Given the description of an element on the screen output the (x, y) to click on. 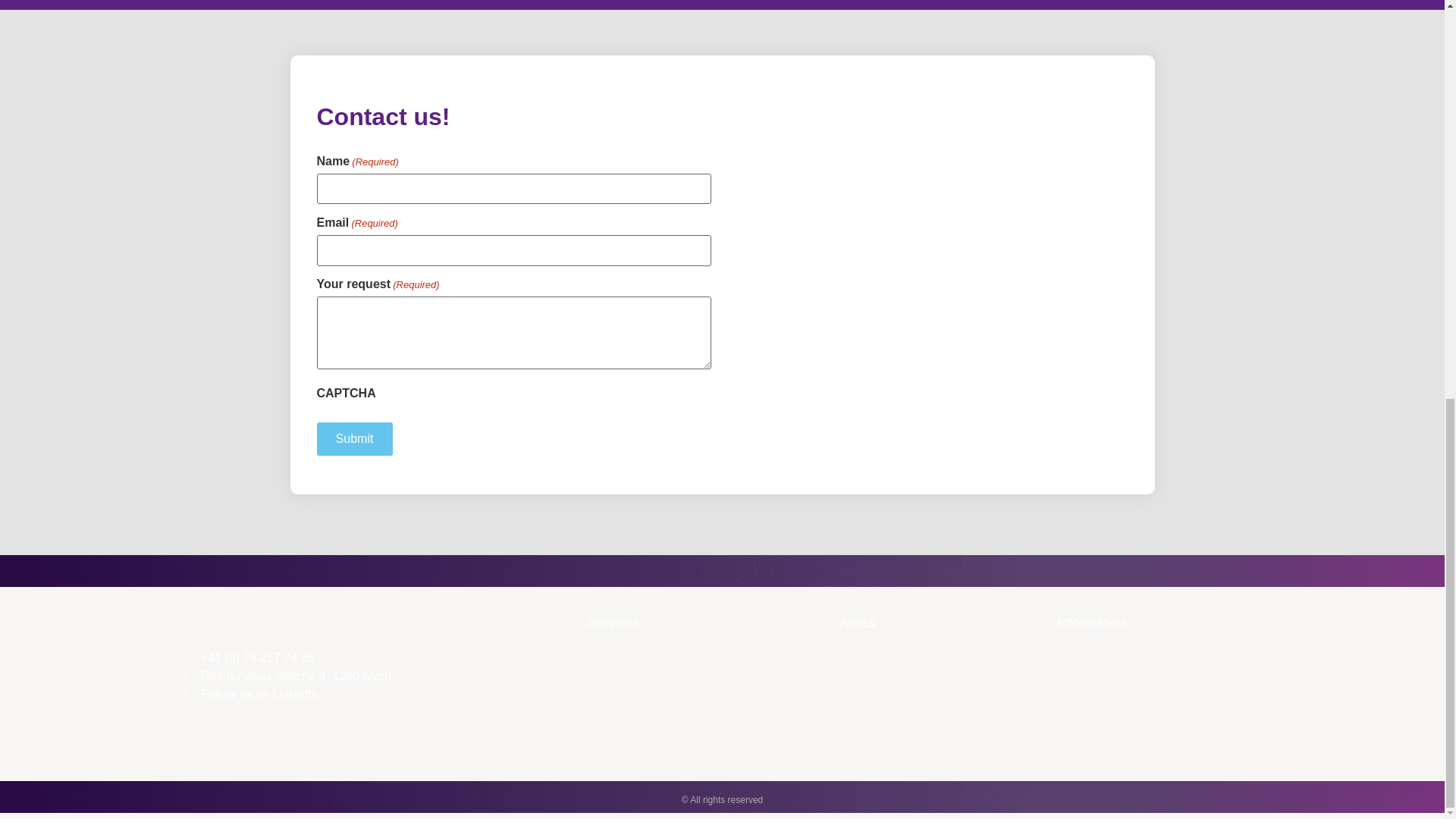
Industry (940, 652)
Submit (355, 438)
Follow us on LinkedIn (347, 694)
Services (940, 691)
Information Systems Audit (705, 652)
Retail (940, 672)
IT and Digital Project Management (705, 711)
Team Support (705, 672)
Submit (355, 438)
Transitional IT Management (705, 691)
